Given the description of an element on the screen output the (x, y) to click on. 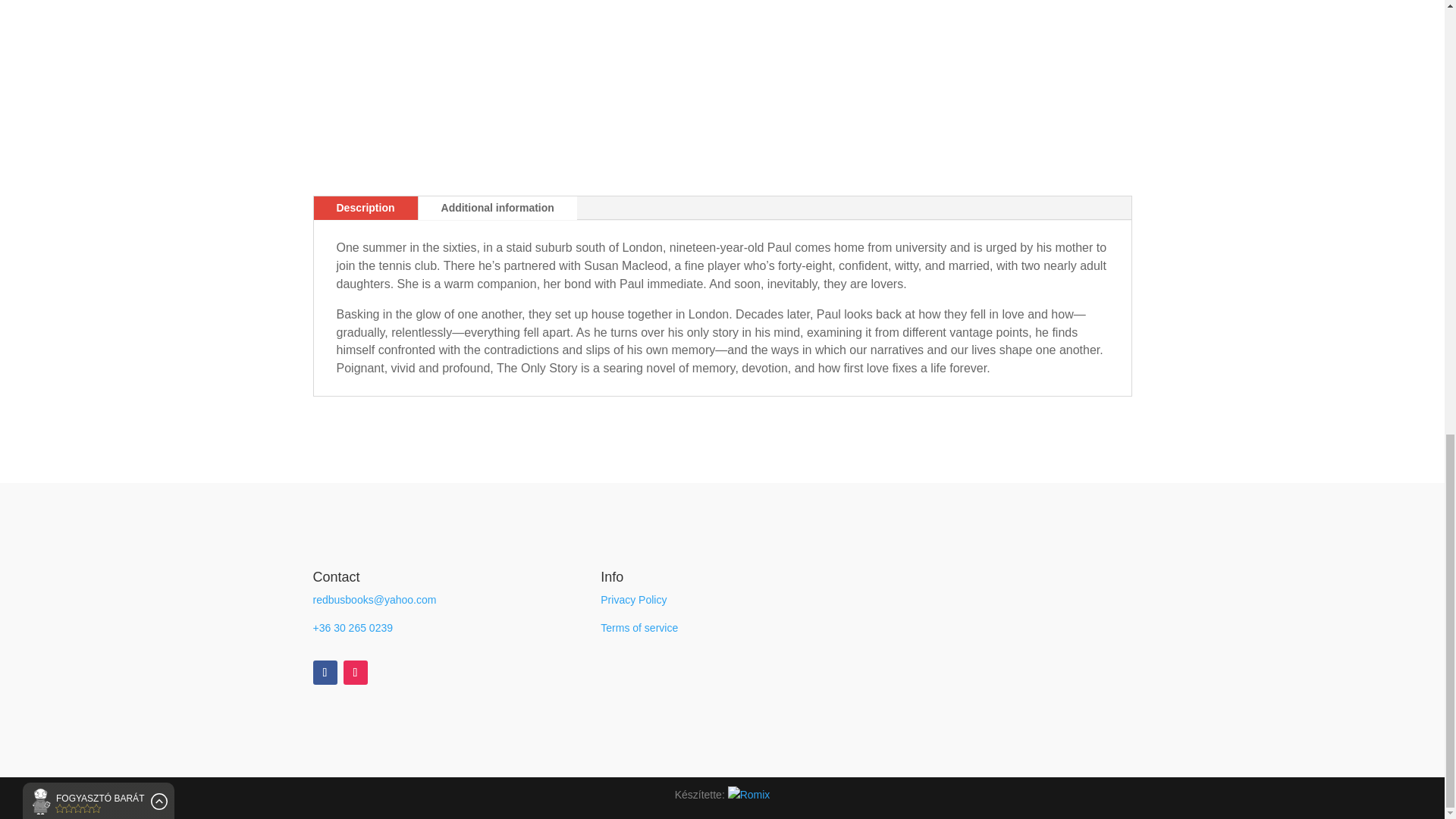
Follow on Instagram (354, 672)
Terms of service (638, 627)
Additional information (497, 208)
Privacy Policy (632, 599)
Follow on Facebook (324, 672)
Description (365, 208)
